Given the description of an element on the screen output the (x, y) to click on. 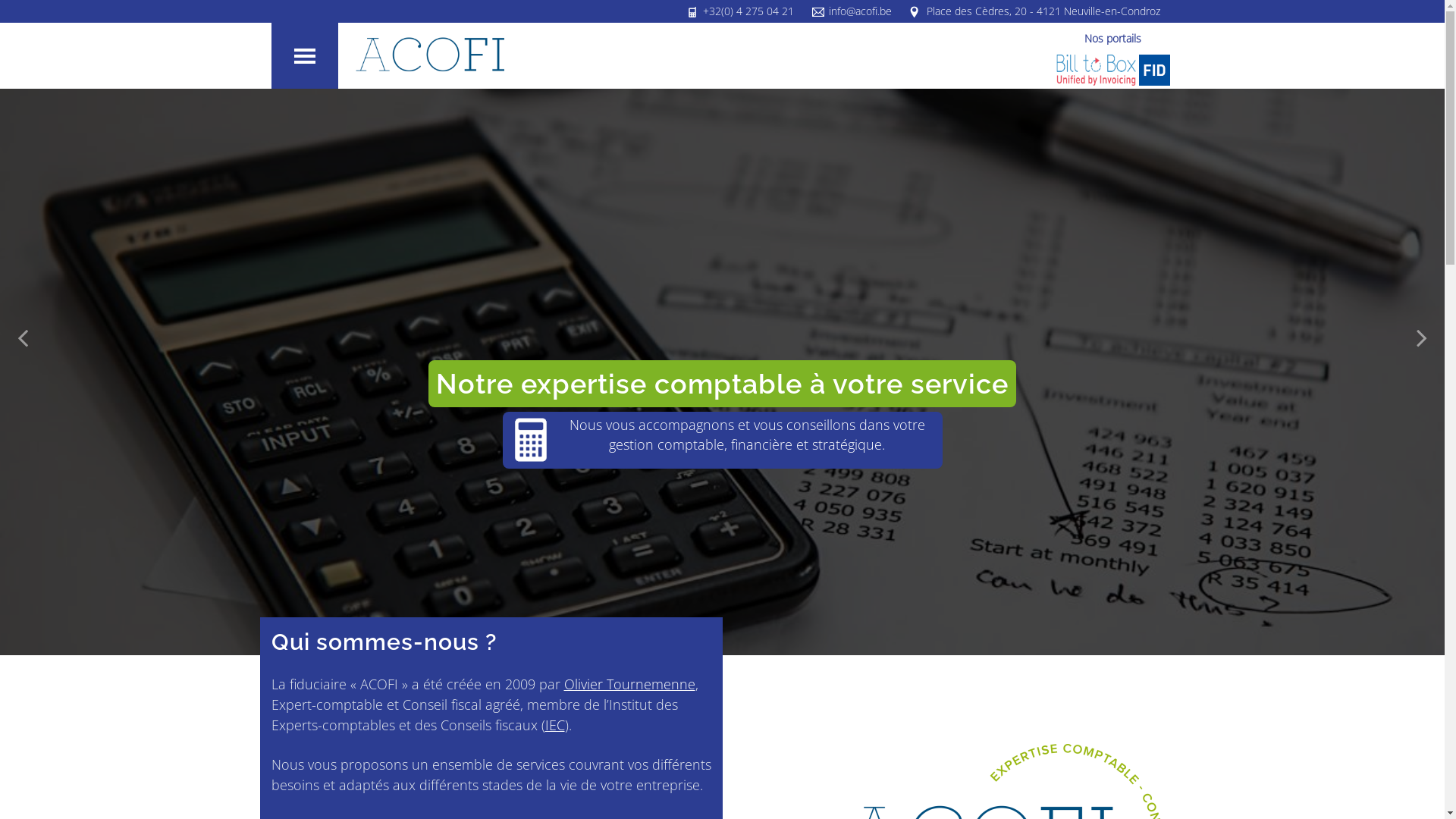
info@acofi.be Element type: text (859, 10)
IEC Element type: text (554, 724)
Olivier Tournemenne Element type: text (629, 683)
ACOFI Element type: hover (429, 54)
